Given the description of an element on the screen output the (x, y) to click on. 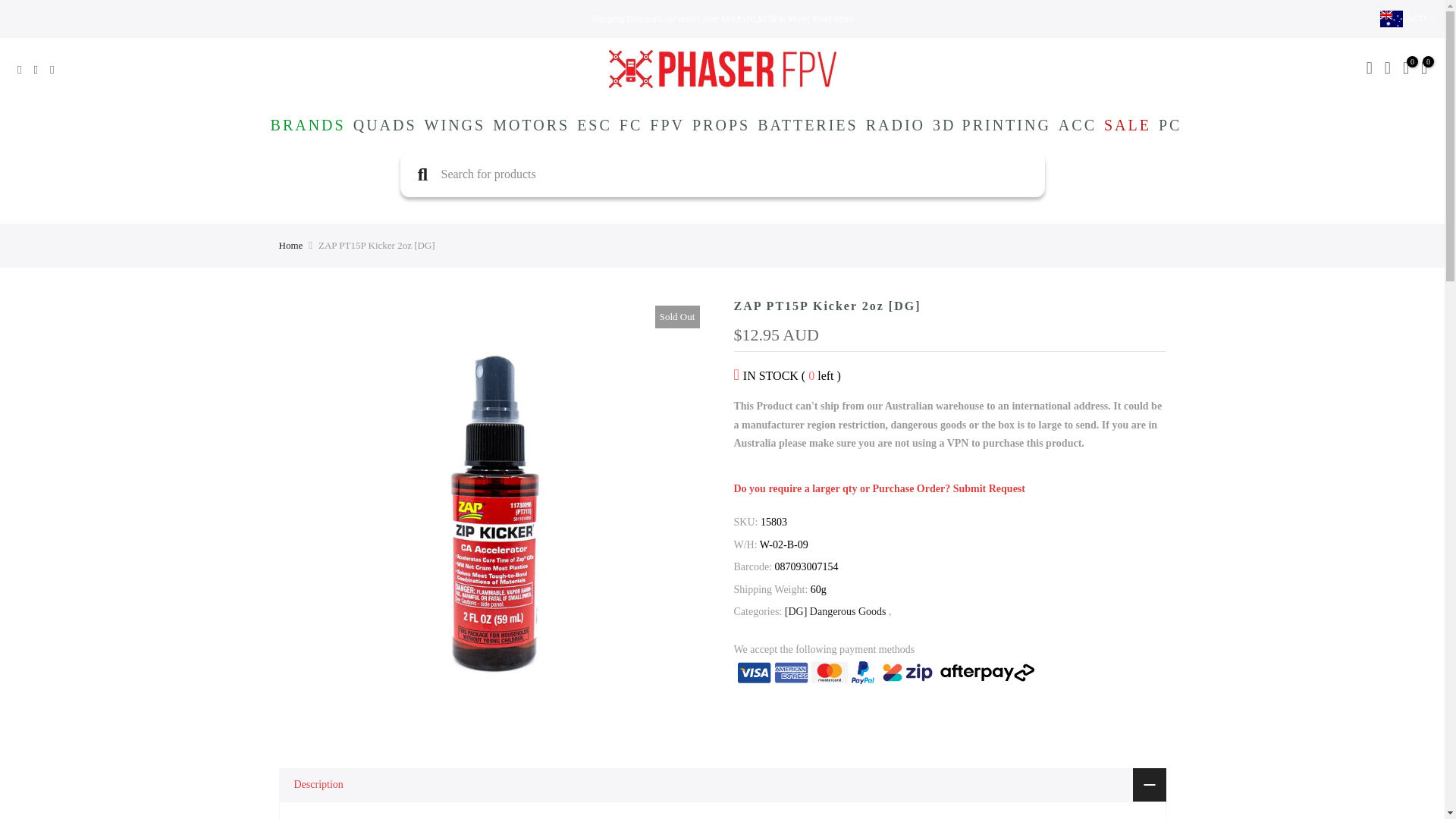
3D PRINTING (992, 125)
BRANDS (308, 125)
QUADS (384, 125)
Read More (832, 18)
BATTERIES (808, 125)
RADIO (895, 125)
Home (290, 245)
MOTORS (531, 125)
WINGS (455, 125)
